Given the description of an element on the screen output the (x, y) to click on. 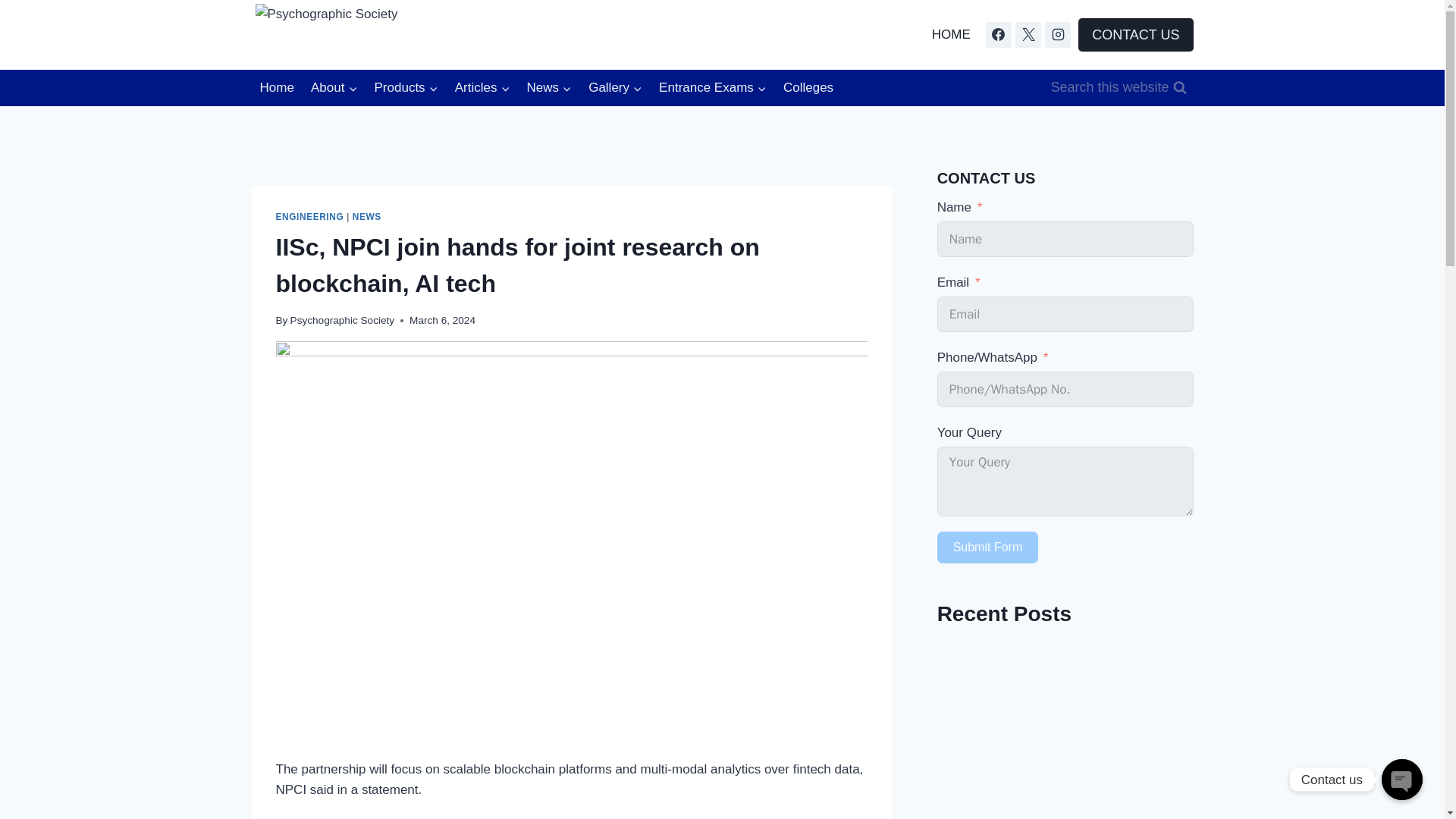
Products (405, 87)
HOME (951, 34)
About (334, 87)
CONTACT US (1135, 34)
Entrance Exams (712, 87)
News (549, 87)
Gallery (614, 87)
Home (276, 87)
Articles (482, 87)
